Given the description of an element on the screen output the (x, y) to click on. 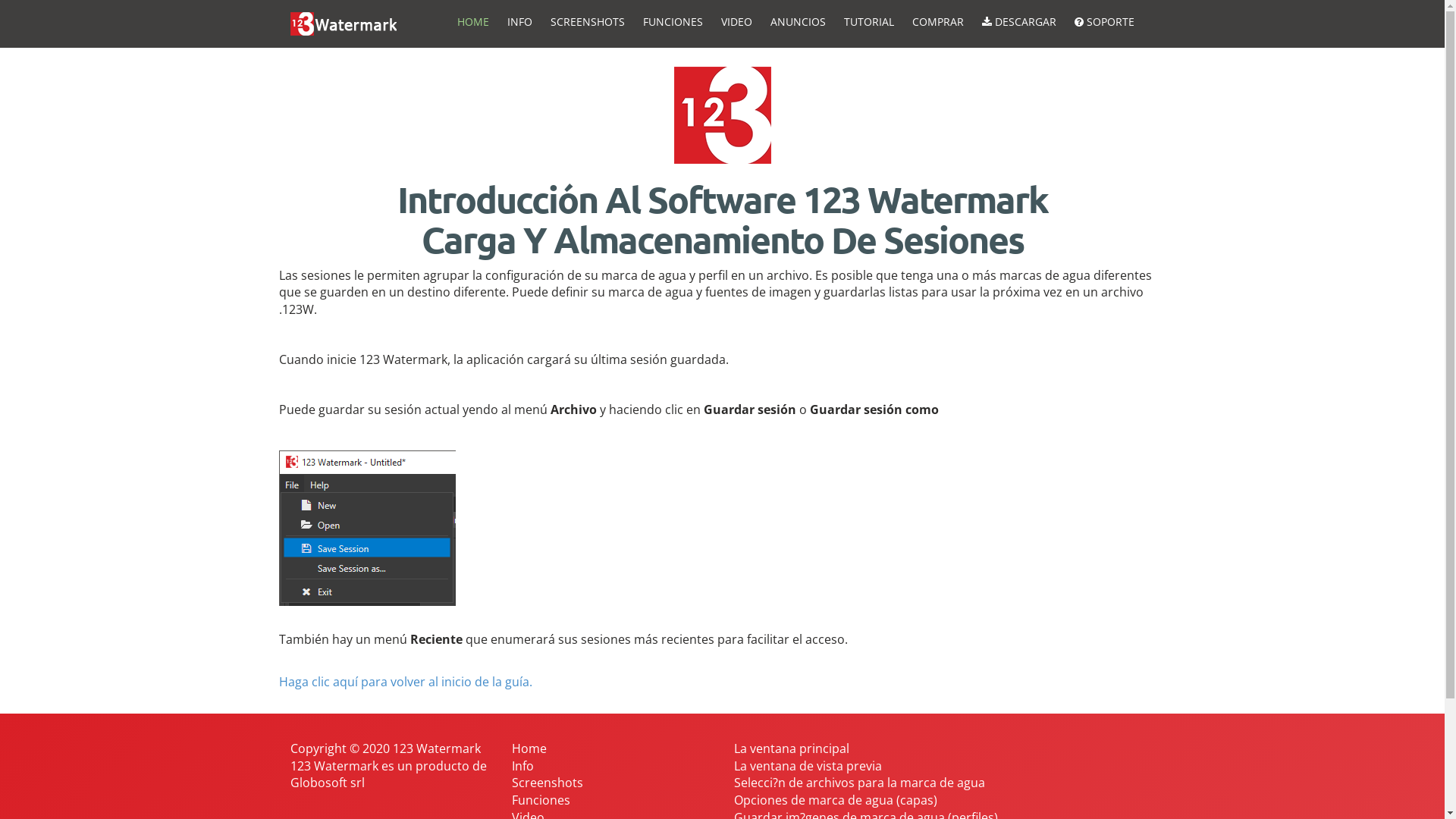
Home Element type: text (528, 748)
ANUNCIOS Element type: text (797, 21)
VIDEO Element type: text (735, 21)
La ventana de vista previa Element type: text (807, 765)
Selecci?n de archivos para la marca de agua Element type: text (859, 782)
FUNCIONES Element type: text (672, 21)
INFO Element type: text (518, 21)
La ventana principal Element type: text (791, 748)
TUTORIAL Element type: text (868, 21)
SCREENSHOTS Element type: text (587, 21)
Screenshots Element type: text (547, 782)
HOME Element type: text (472, 21)
Opciones de marca de agua (capas) Element type: text (835, 799)
Funciones Element type: text (540, 799)
COMPRAR Element type: text (937, 21)
 DESCARGAR Element type: text (1018, 21)
Info Element type: text (522, 765)
 SOPORTE Element type: text (1103, 21)
